Given the description of an element on the screen output the (x, y) to click on. 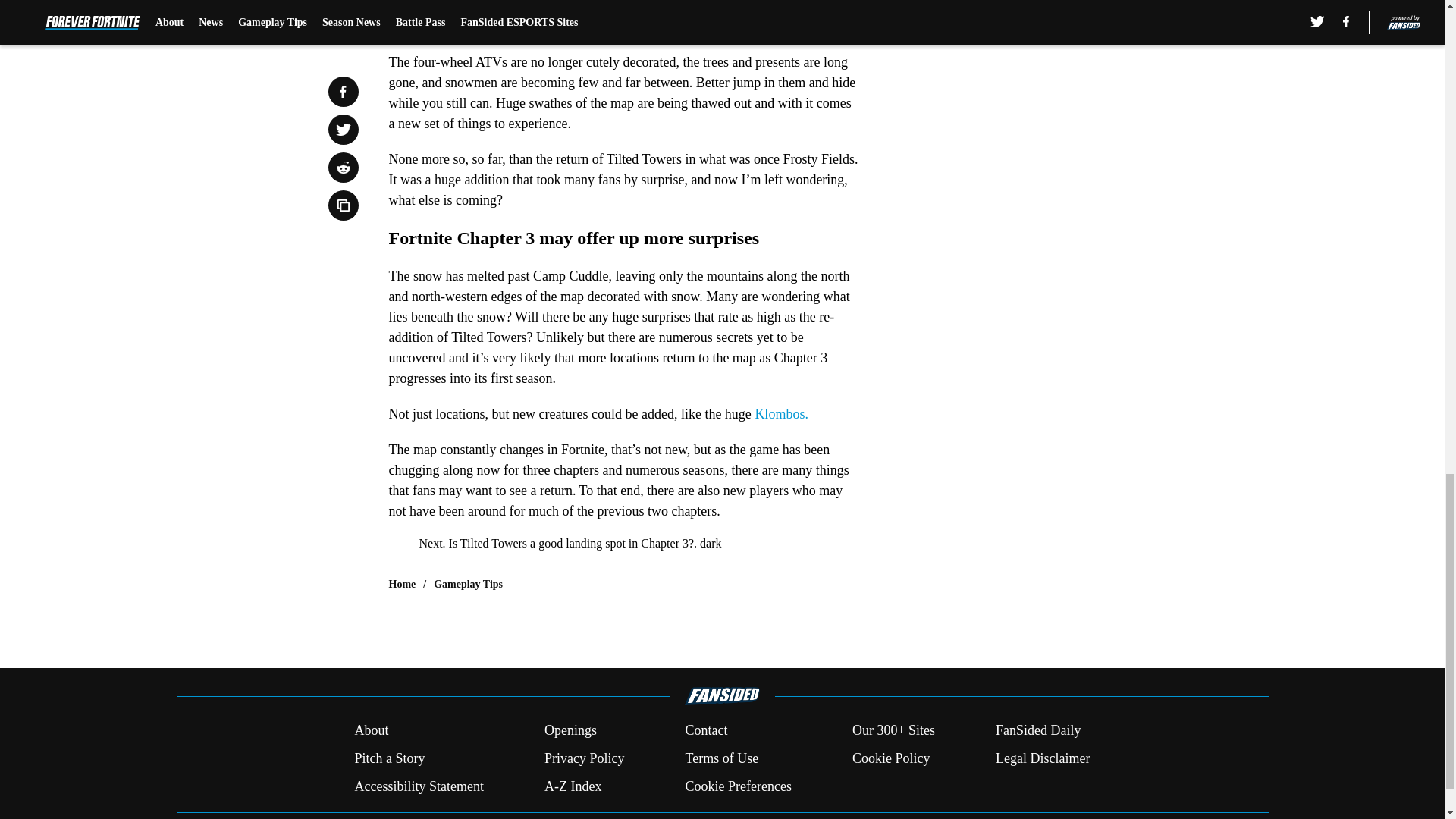
About (370, 730)
Pitch a Story (389, 758)
Terms of Use (721, 758)
Contact (705, 730)
Openings (570, 730)
Privacy Policy (584, 758)
Cookie Policy (890, 758)
FanSided Daily (1038, 730)
Accessibility Statement (418, 786)
Klombos. (781, 413)
